Given the description of an element on the screen output the (x, y) to click on. 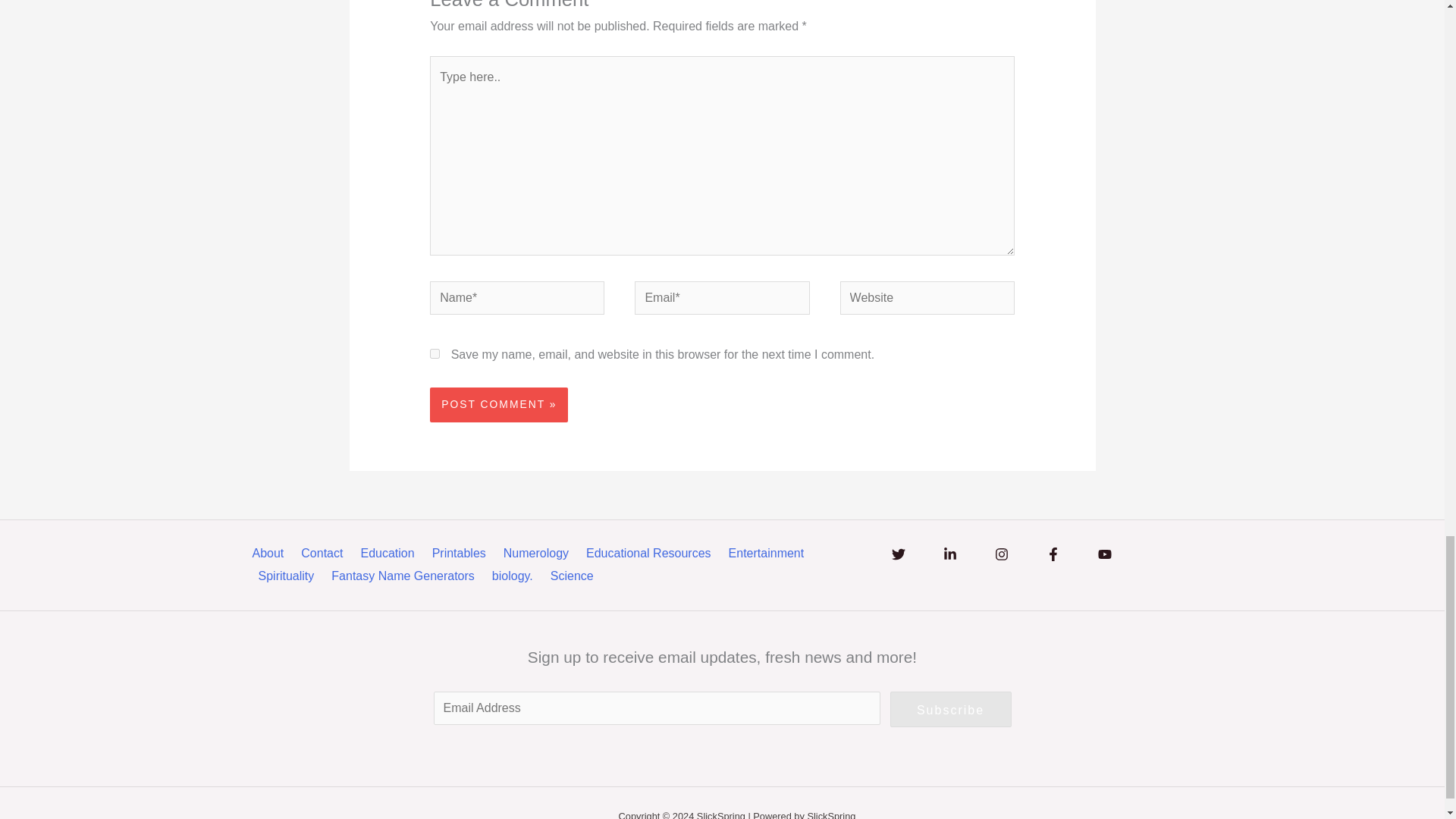
yes (434, 353)
